Given the description of an element on the screen output the (x, y) to click on. 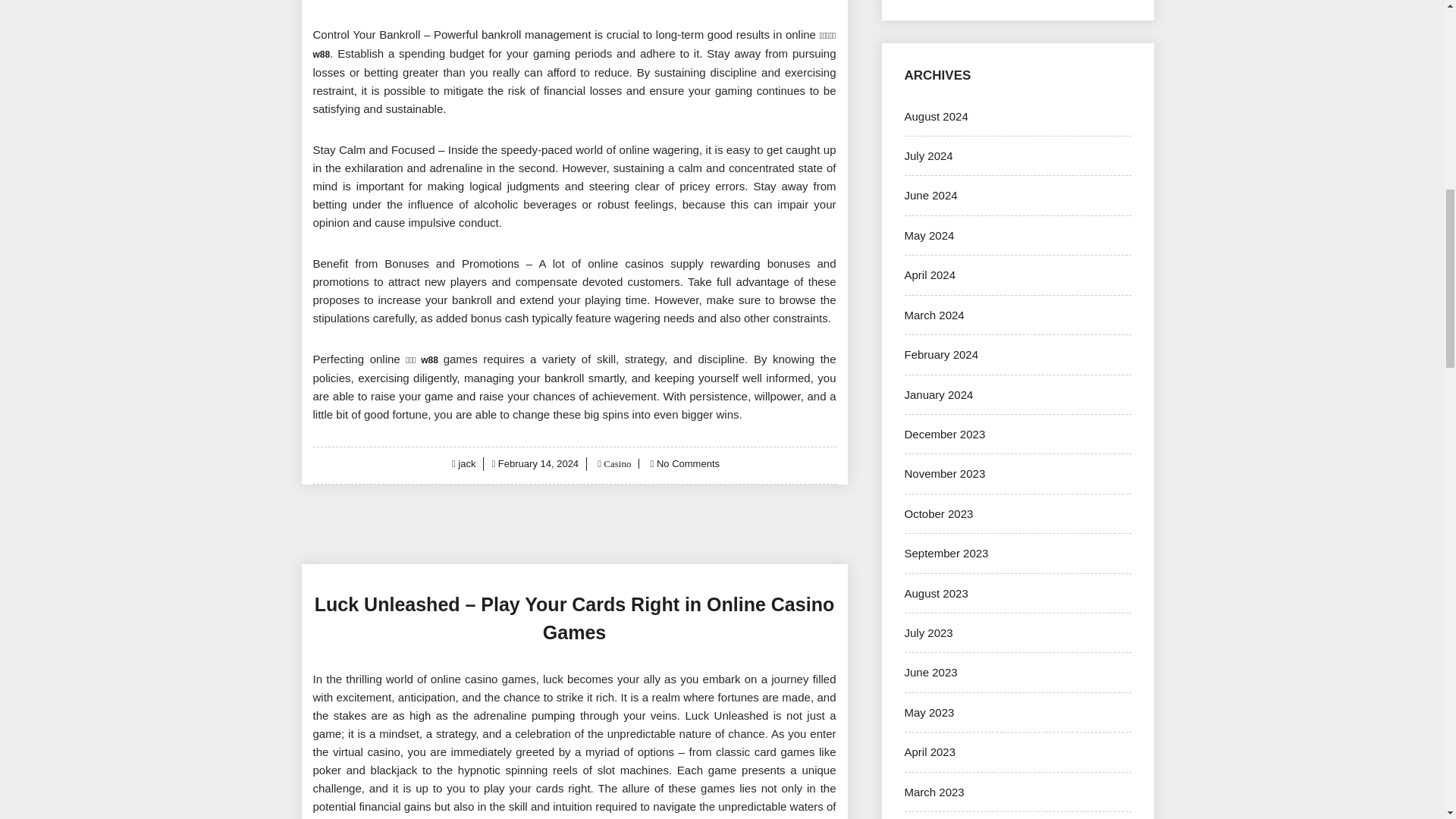
jack (467, 463)
May 2024 (928, 235)
June 2024 (930, 195)
August 2024 (936, 115)
No Comments (687, 463)
February 14, 2024 (537, 463)
Casino (615, 463)
July 2024 (928, 155)
